Given the description of an element on the screen output the (x, y) to click on. 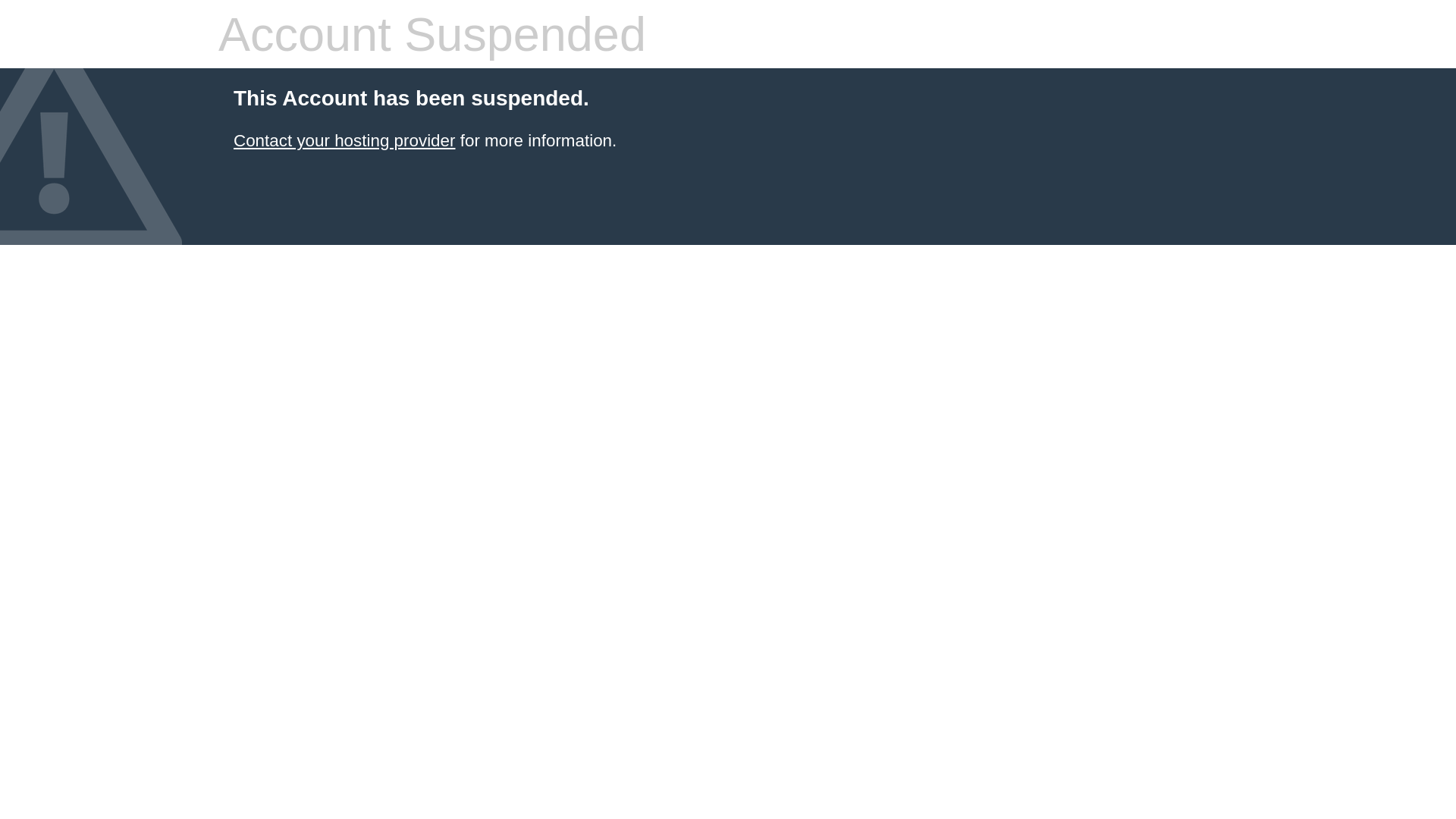
Contact your hosting provider Element type: text (344, 140)
